Given the description of an element on the screen output the (x, y) to click on. 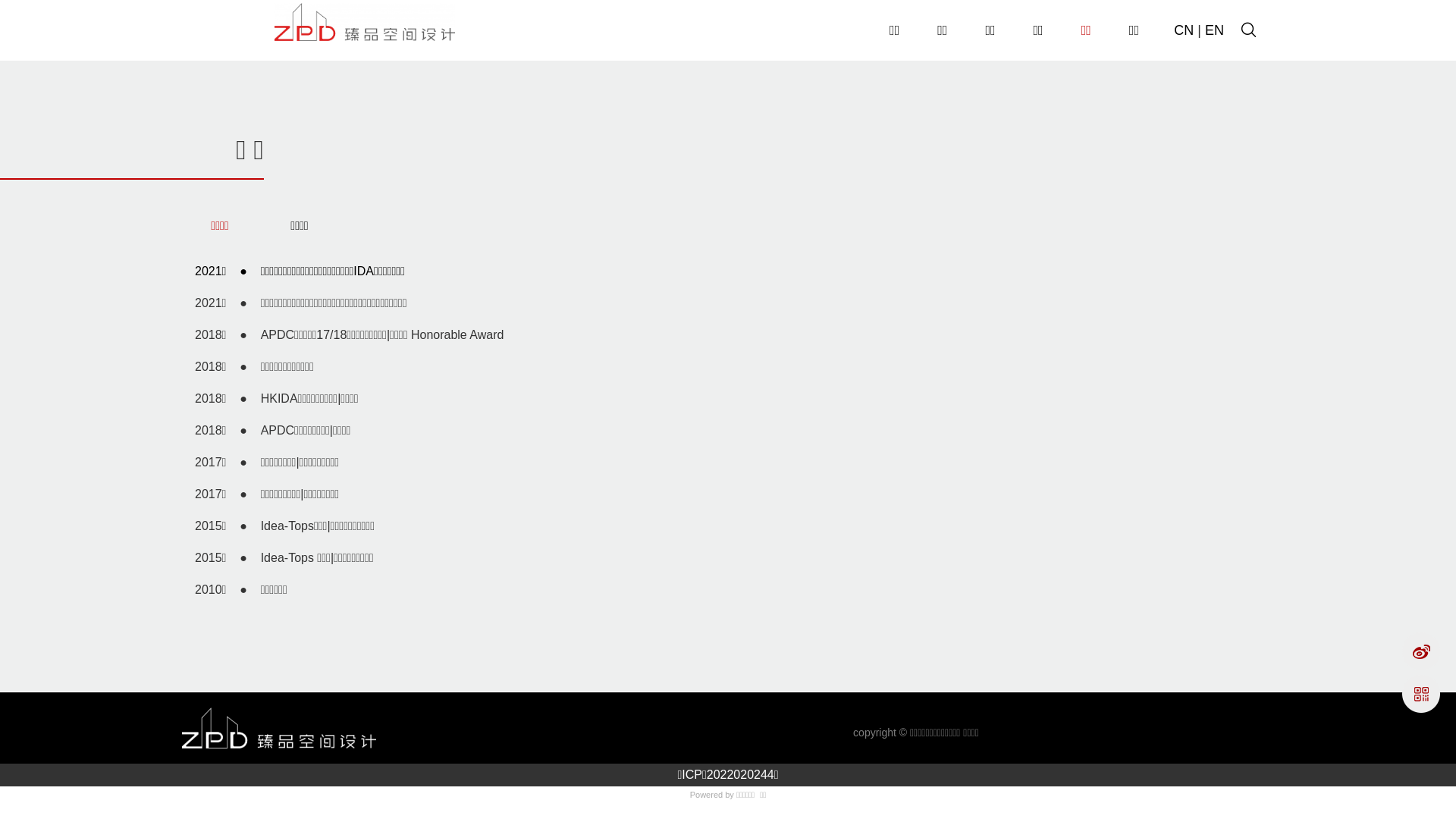
CN Element type: text (1183, 29)
EN Element type: text (1213, 29)
